Given the description of an element on the screen output the (x, y) to click on. 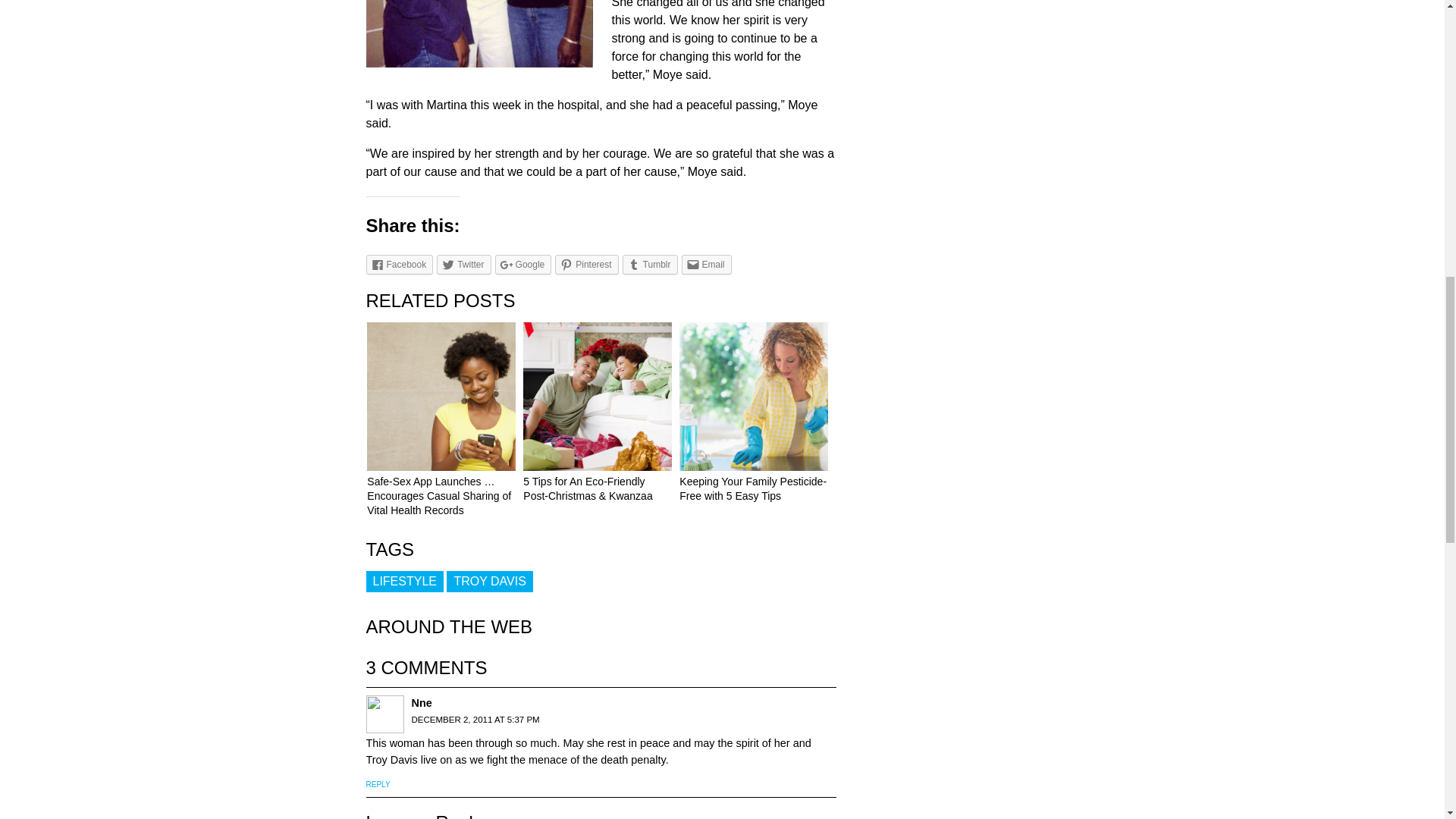
LIFESTYLE (403, 581)
Facebook (398, 264)
Pinterest (585, 264)
Click to share on Twitter (463, 264)
Google (523, 264)
Martina Correia, Troy Davis (478, 33)
Email (705, 264)
Click to share on Facebook (398, 264)
Twitter (463, 264)
Keeping Your Family Pesticide-Free with 5 Easy Tips (753, 488)
Tumblr (650, 264)
